Given the description of an element on the screen output the (x, y) to click on. 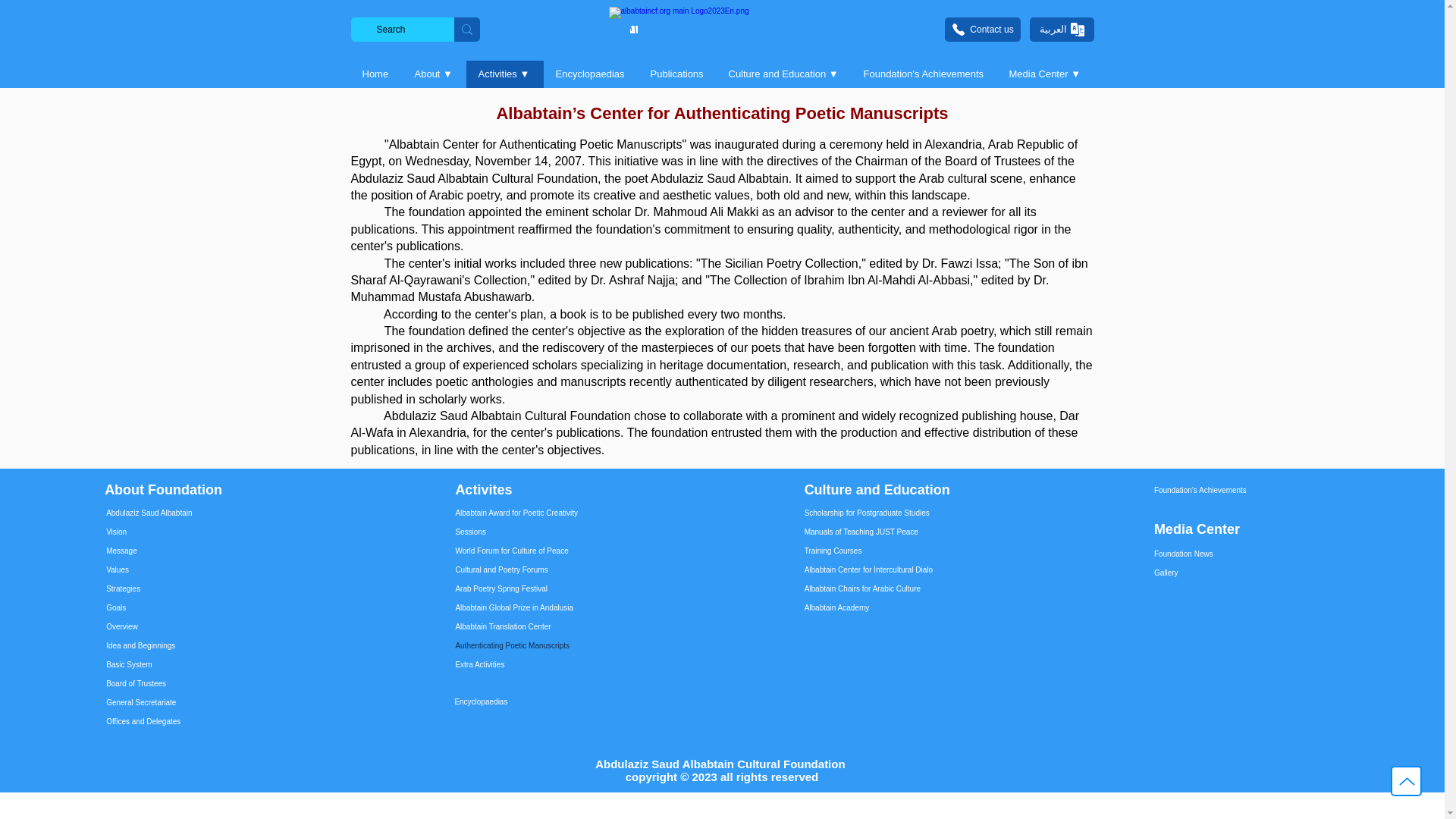
Foundation's Achievements (922, 73)
Home (375, 73)
Publications (677, 73)
Contact us (982, 29)
Encyclopaedias (590, 73)
